Given the description of an element on the screen output the (x, y) to click on. 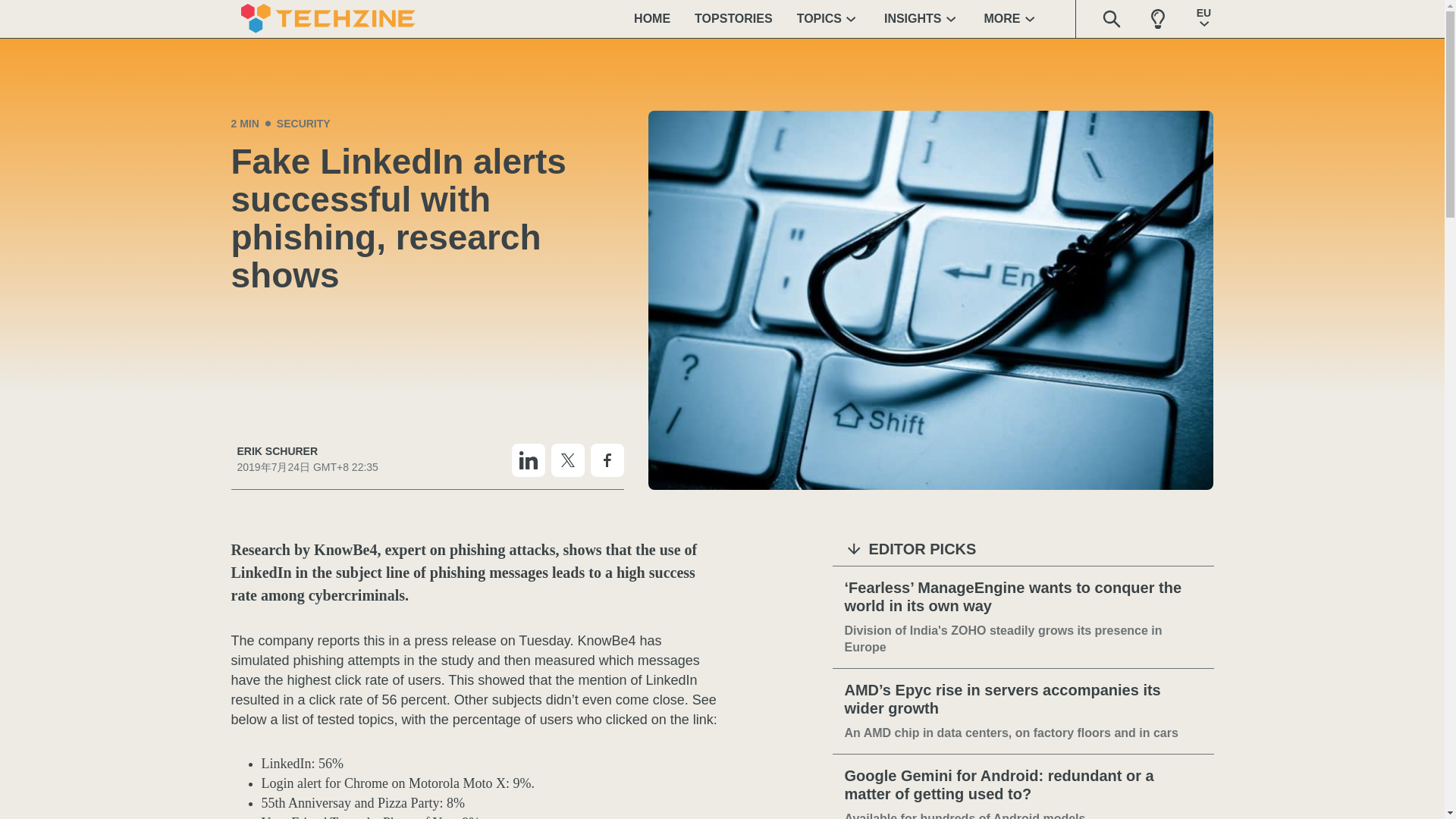
INSIGHTS (922, 18)
HOME (651, 18)
TOPSTORIES (733, 18)
SECURITY (303, 123)
ERIK SCHURER (306, 451)
MORE (1011, 18)
TOPICS (828, 18)
